Given the description of an element on the screen output the (x, y) to click on. 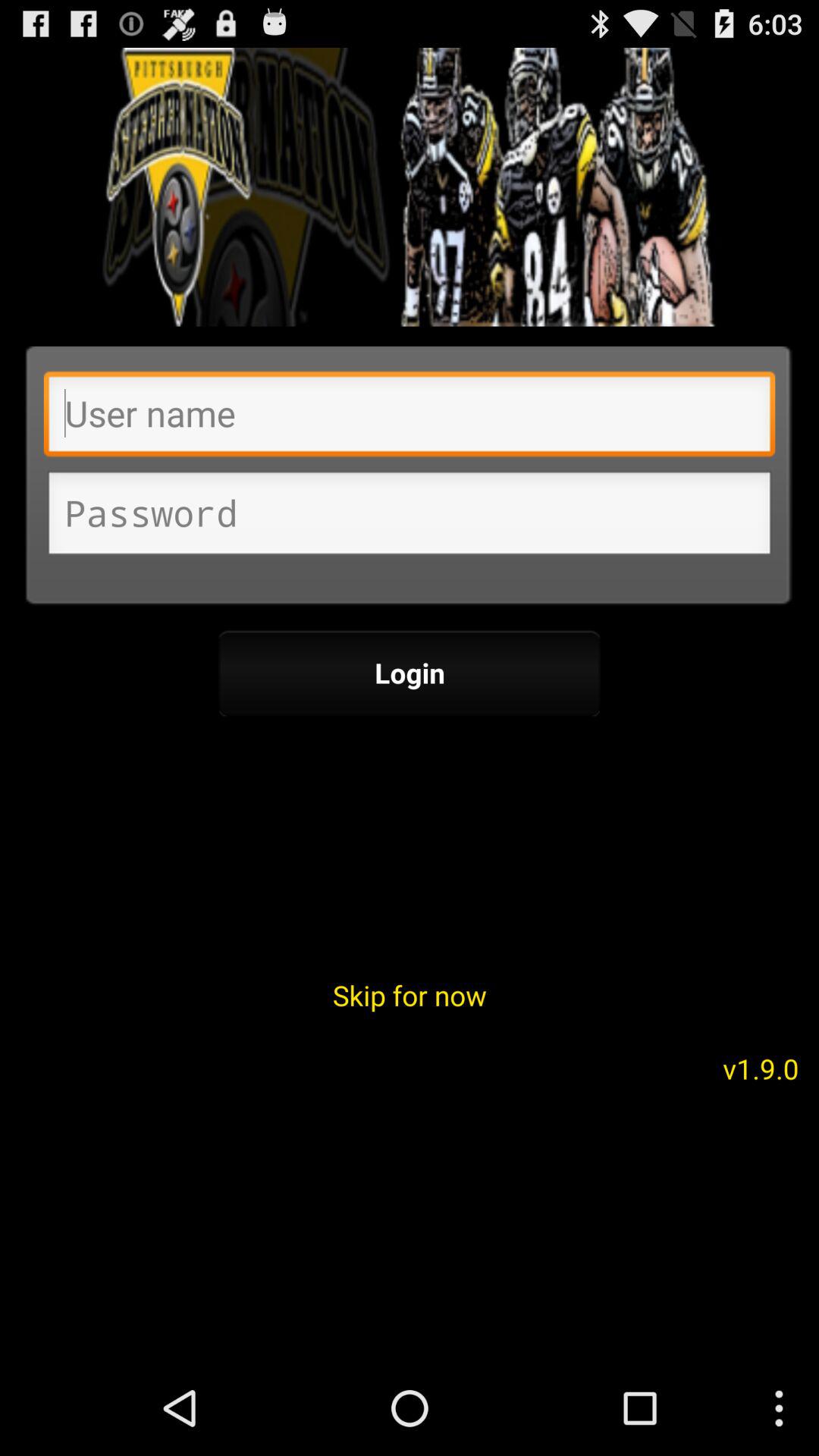
open the login (409, 672)
